Given the description of an element on the screen output the (x, y) to click on. 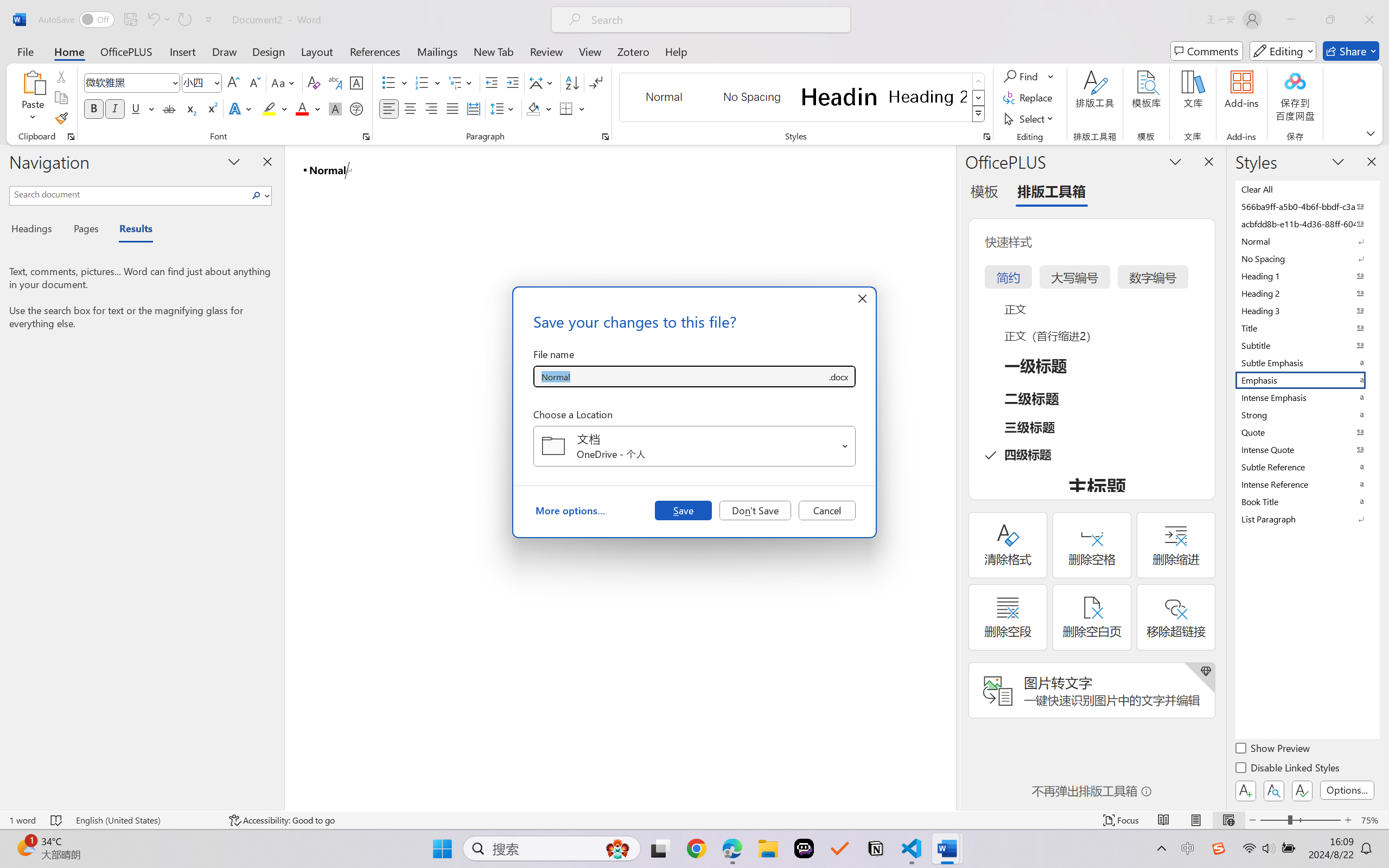
Spelling and Grammar Check No Errors (56, 819)
Print Layout (1196, 819)
Heading 3 (1306, 310)
Mode (1283, 50)
Save as type (837, 376)
Minimize (1291, 19)
Strong (1306, 414)
Row Down (978, 97)
Replace... (1029, 97)
Zoom (1300, 819)
